Given the description of an element on the screen output the (x, y) to click on. 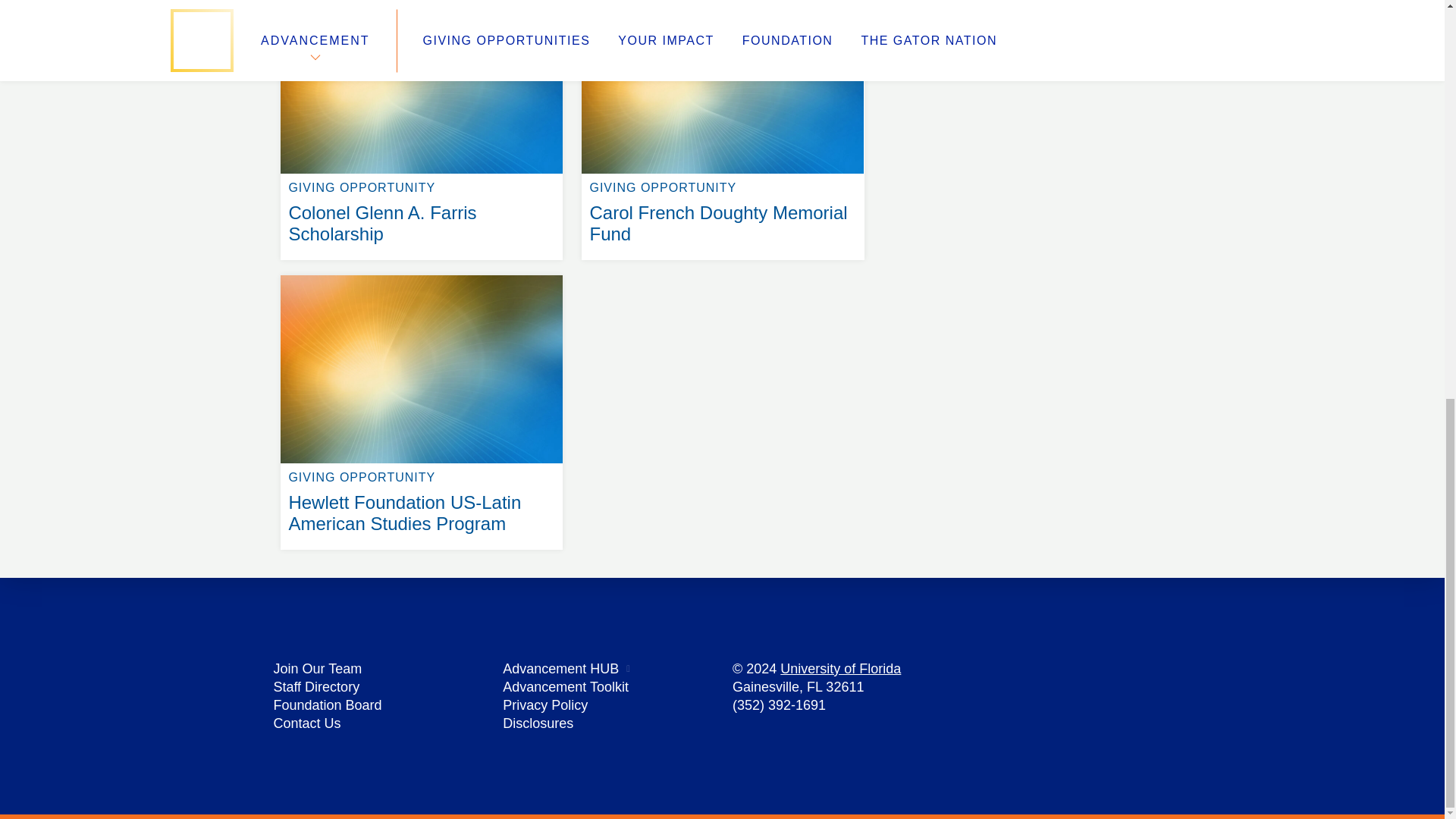
Contact Us (306, 723)
Advancement Toolkit (565, 686)
Disclosures (537, 723)
Privacy Policy (545, 704)
Staff Directory (316, 686)
Foundation Board (327, 704)
University of Florida (840, 668)
Join Our Team (317, 668)
Advancement HUB (560, 668)
